Given the description of an element on the screen output the (x, y) to click on. 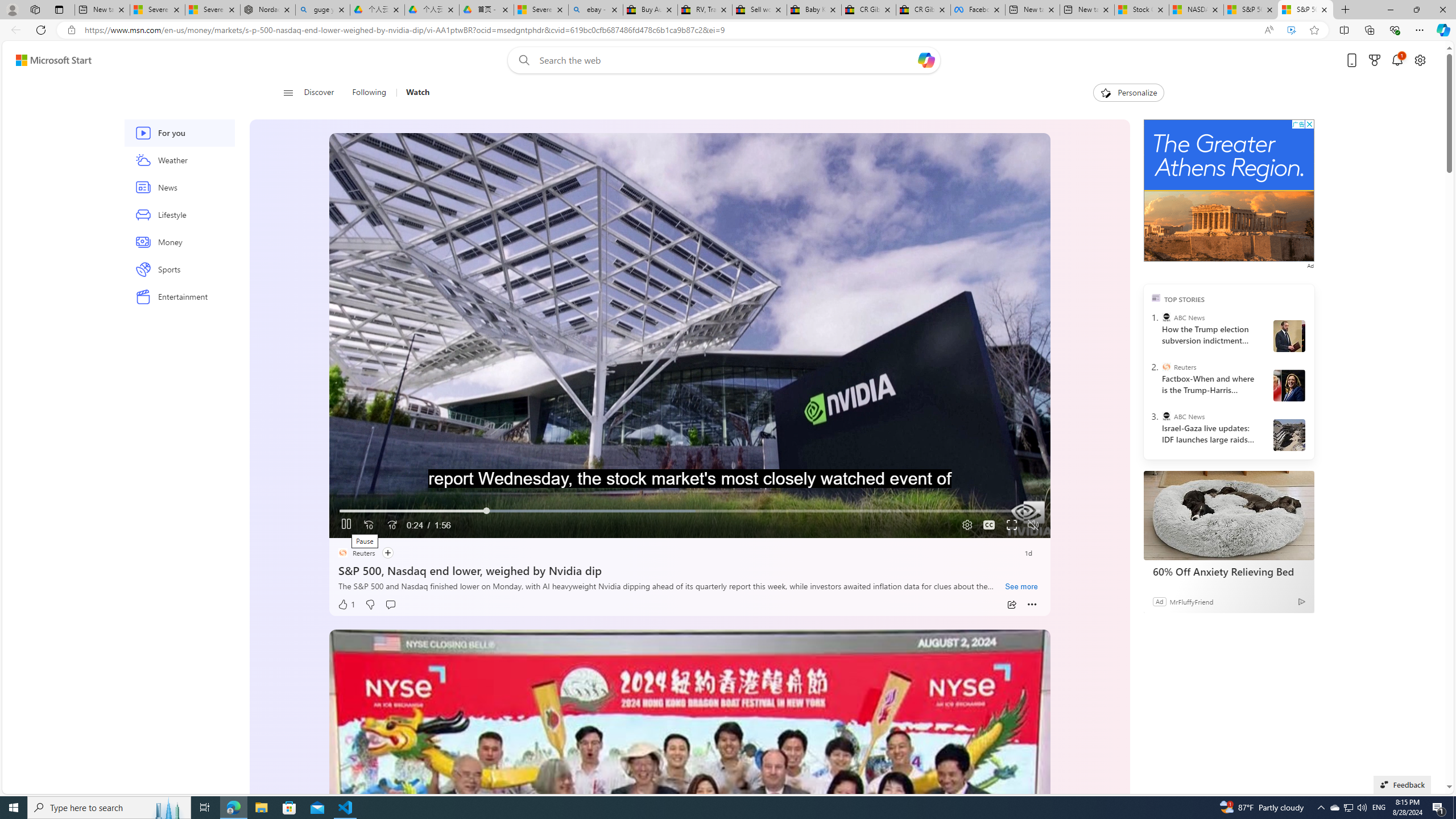
MrFluffyFriend (1190, 601)
Open navigation menu (287, 92)
Advertisement (1228, 190)
Microsoft rewards (1374, 60)
